Given the description of an element on the screen output the (x, y) to click on. 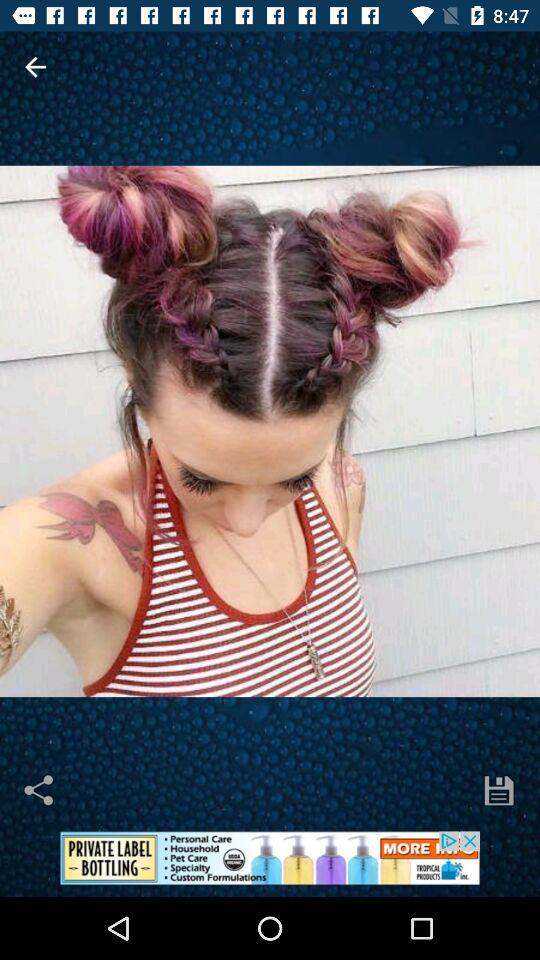
go to share (40, 790)
